Given the description of an element on the screen output the (x, y) to click on. 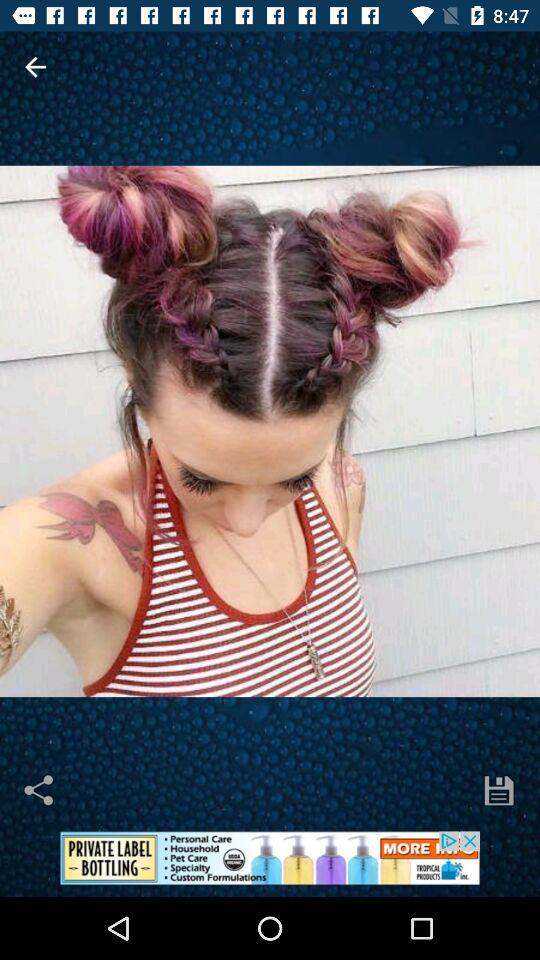
go to share (40, 790)
